Given the description of an element on the screen output the (x, y) to click on. 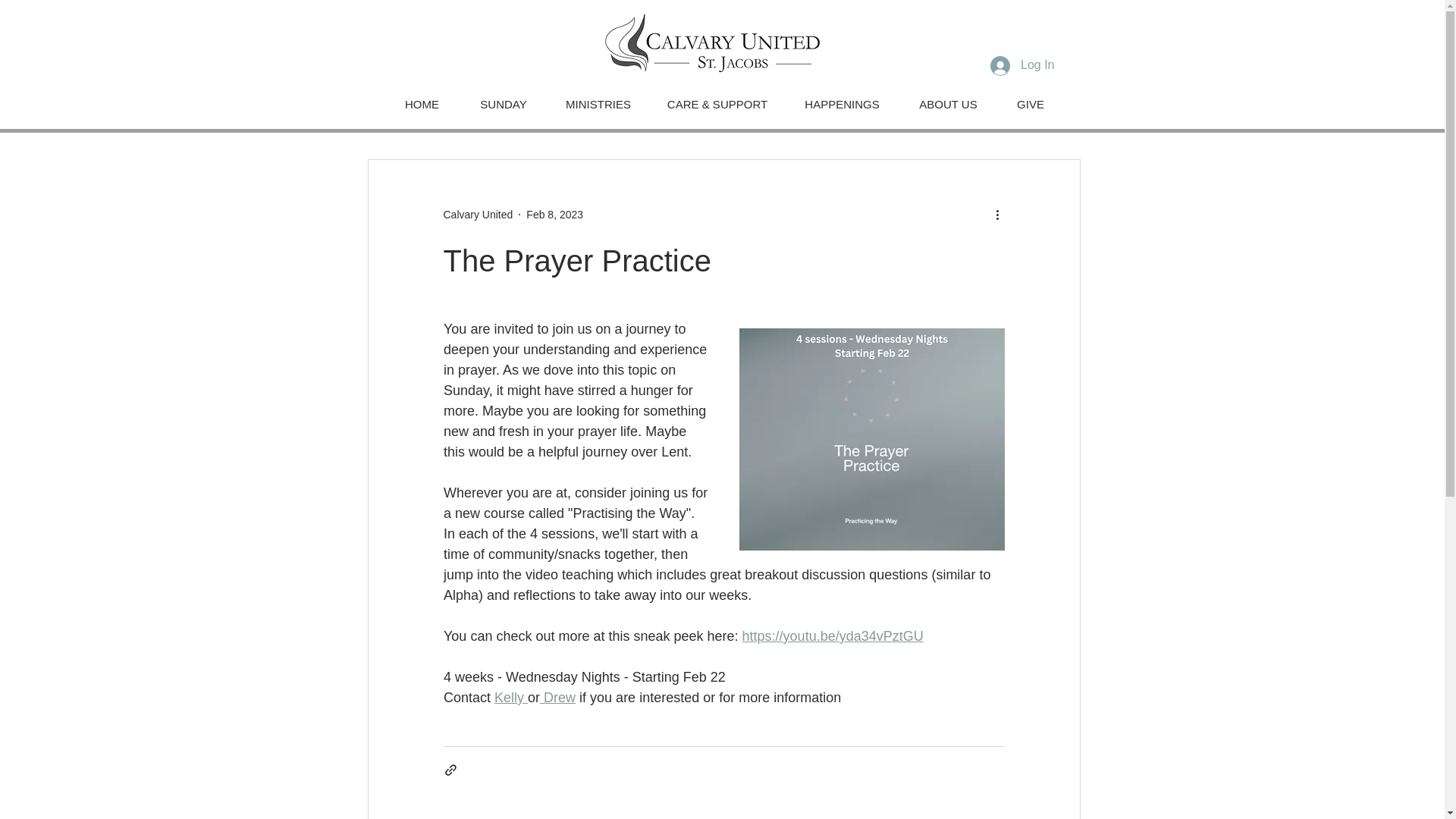
Kelly  (511, 697)
Calvary United (477, 213)
HOME (422, 104)
Log In (1021, 65)
Feb 8, 2023 (554, 214)
 Drew (557, 697)
Calvary United (477, 213)
